Given the description of an element on the screen output the (x, y) to click on. 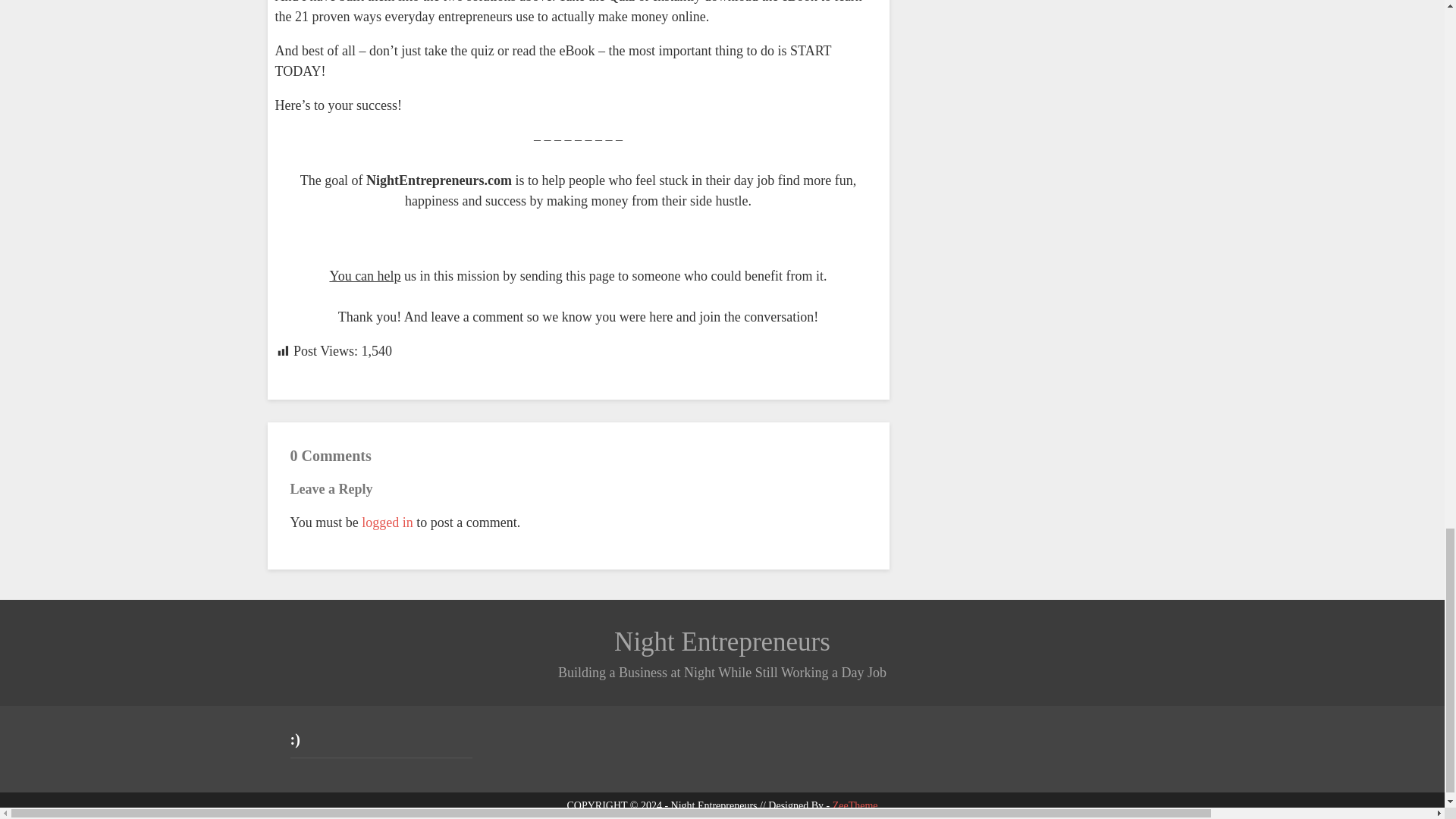
ZeeTheme (854, 805)
Night Entrepreneurs (721, 641)
logged in (387, 522)
